Given the description of an element on the screen output the (x, y) to click on. 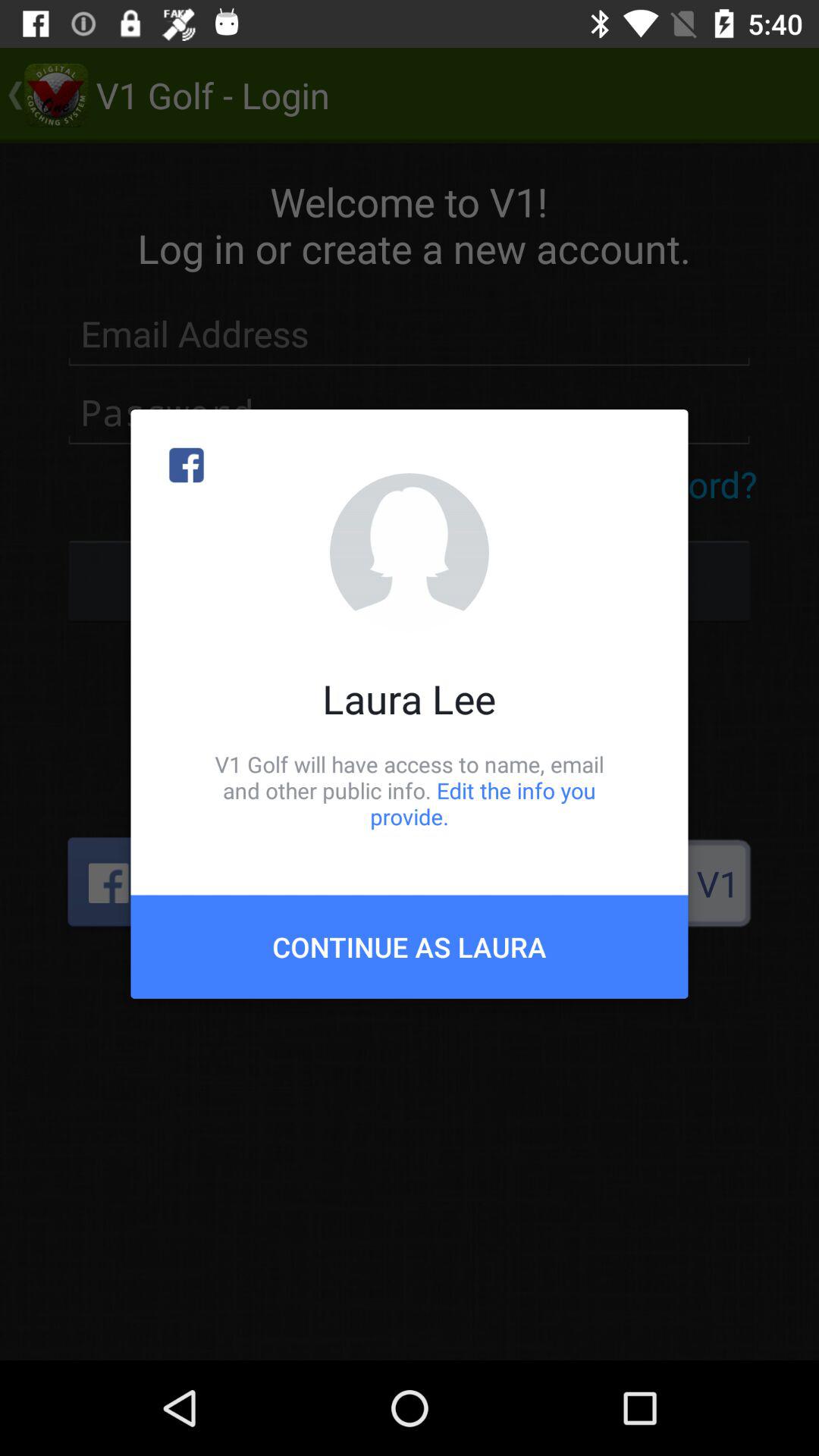
turn on the item below laura lee icon (409, 790)
